Given the description of an element on the screen output the (x, y) to click on. 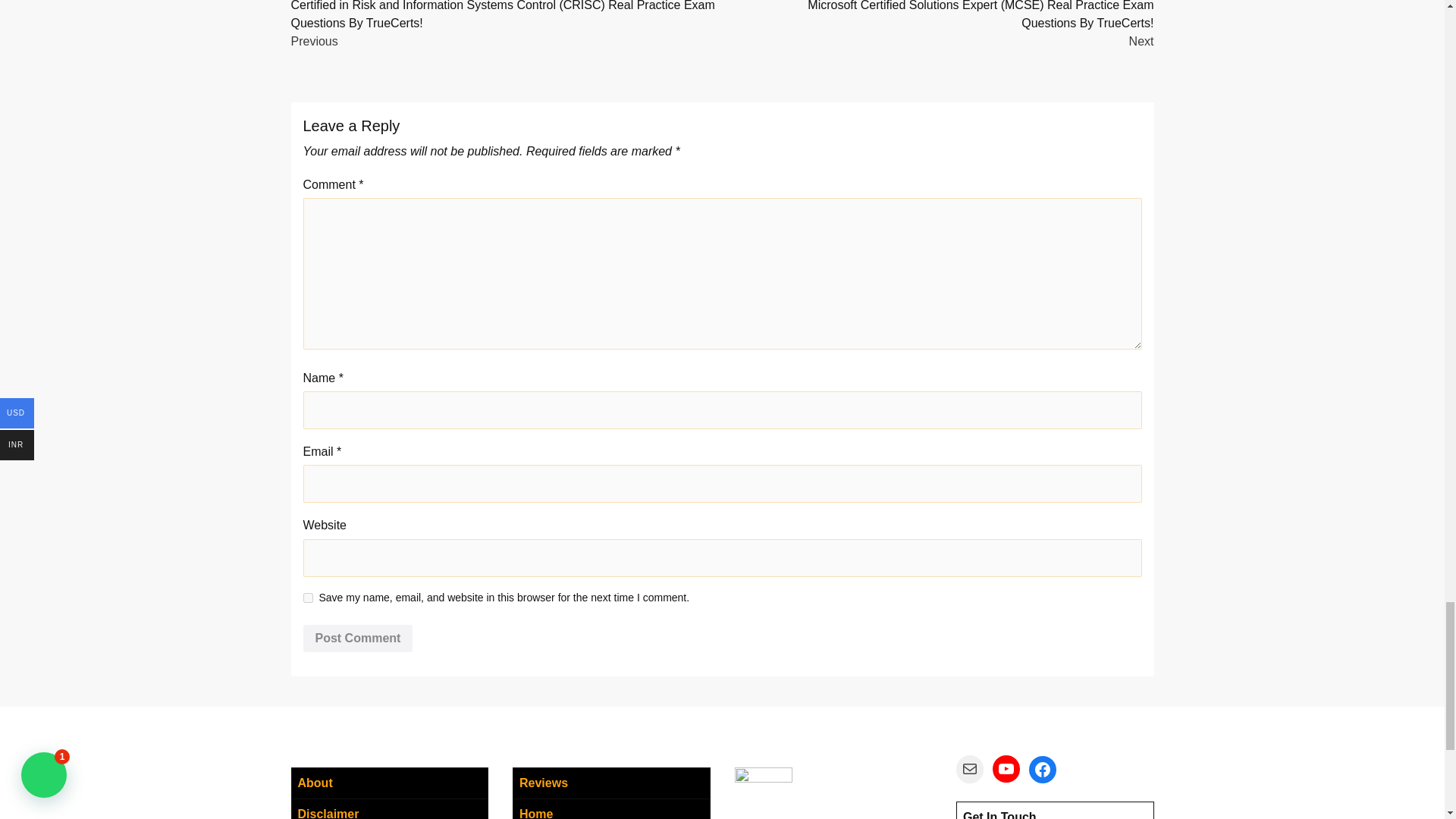
Post Comment (357, 637)
yes (307, 597)
